Given the description of an element on the screen output the (x, y) to click on. 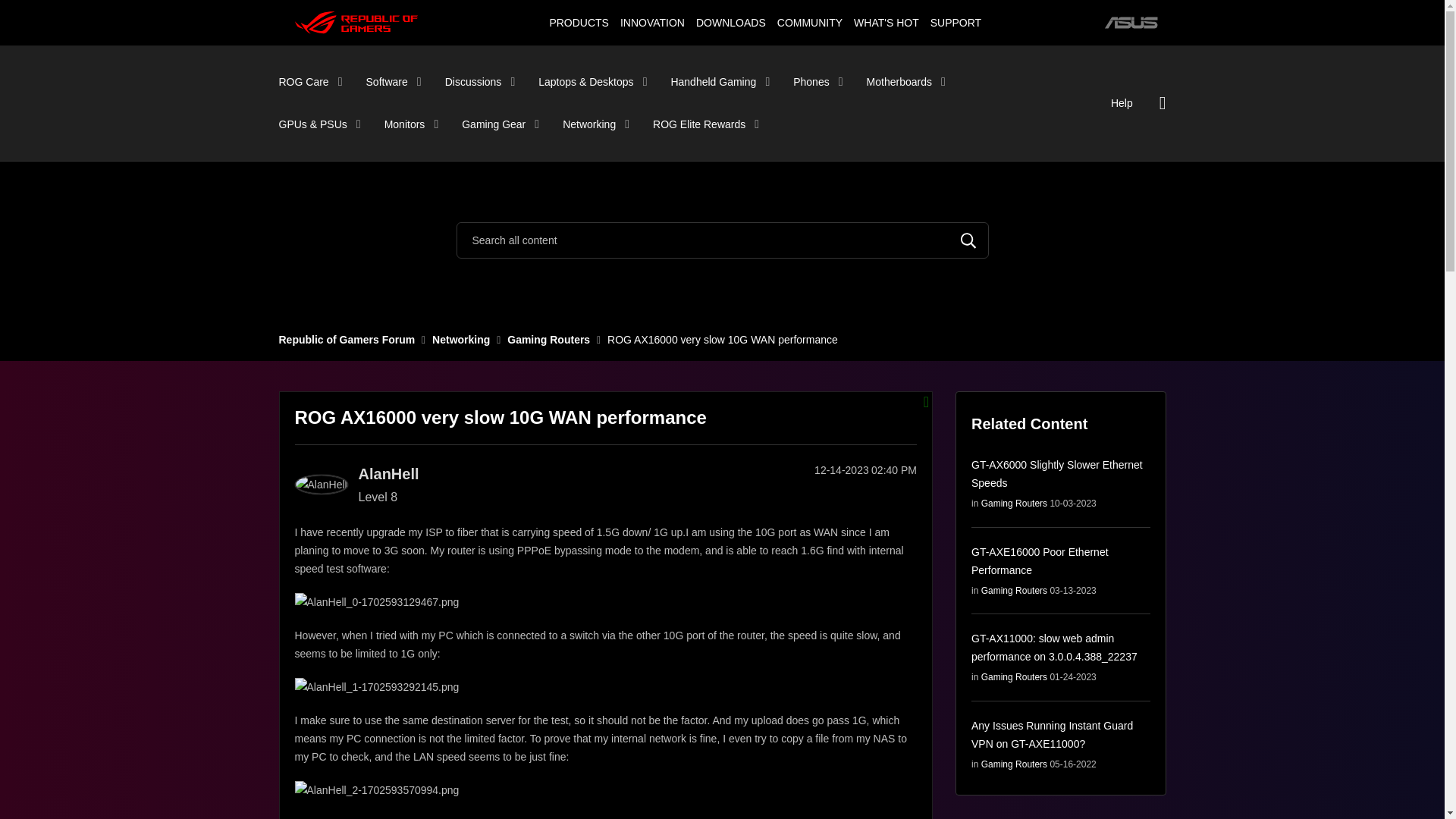
Search (967, 239)
COMMUNITY (809, 22)
Search (722, 239)
INNOVATION (652, 22)
PRODUCTS (578, 22)
Search (967, 239)
DOWNLOADS (730, 22)
AlanHell (320, 484)
